Given the description of an element on the screen output the (x, y) to click on. 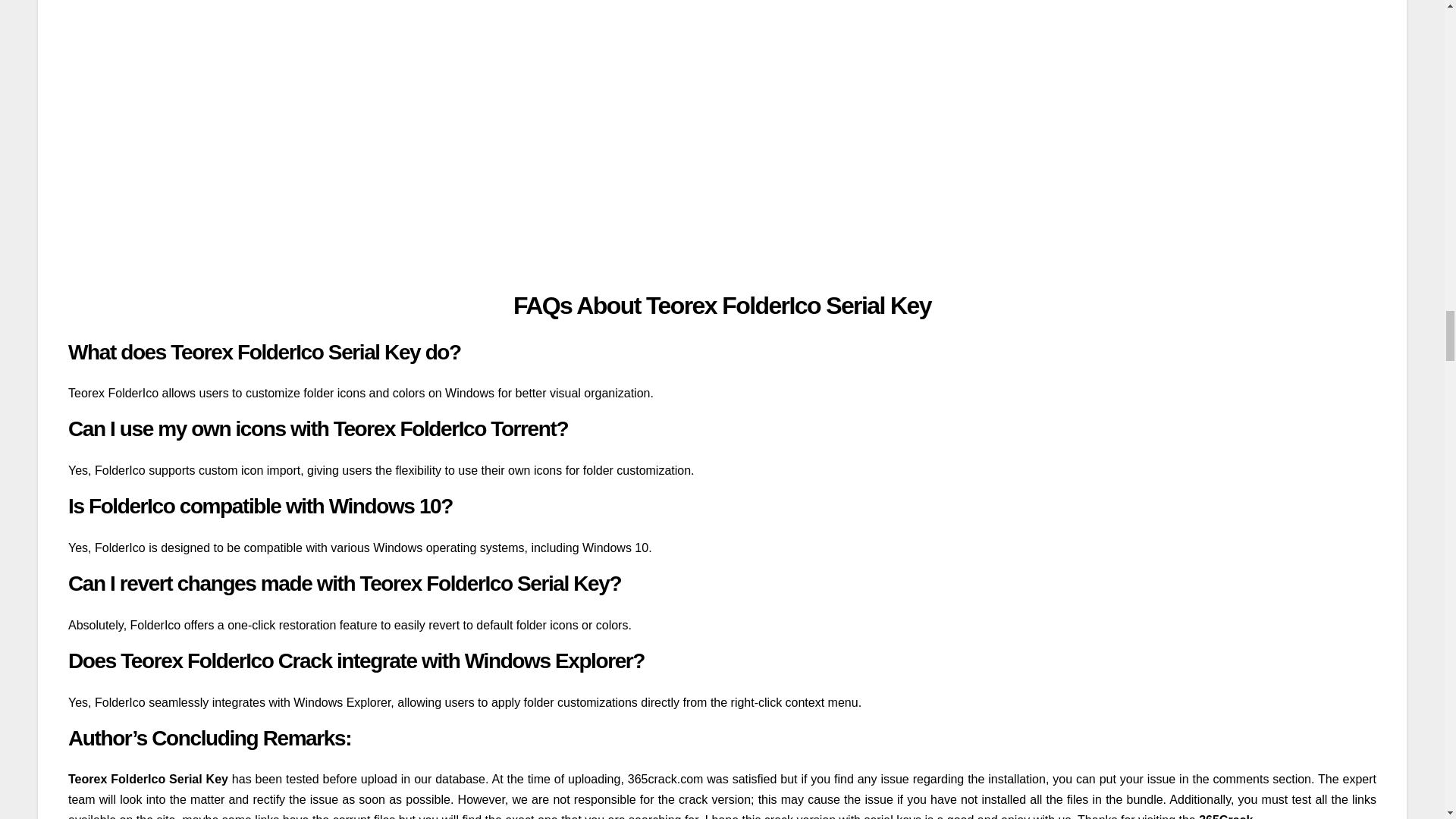
How to download folderico register it and use it (310, 147)
